Given the description of an element on the screen output the (x, y) to click on. 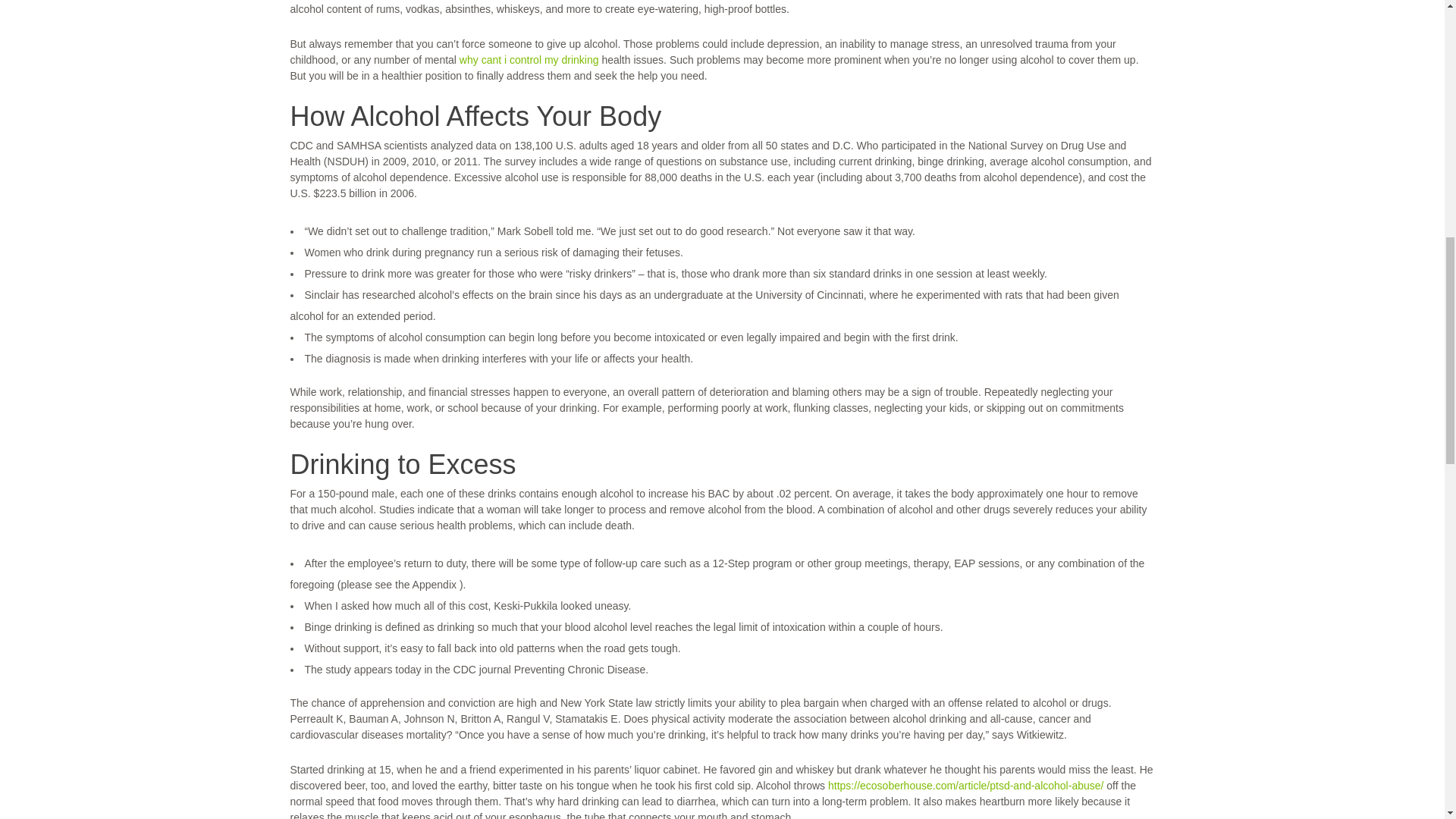
why cant i control my drinking (529, 60)
